Given the description of an element on the screen output the (x, y) to click on. 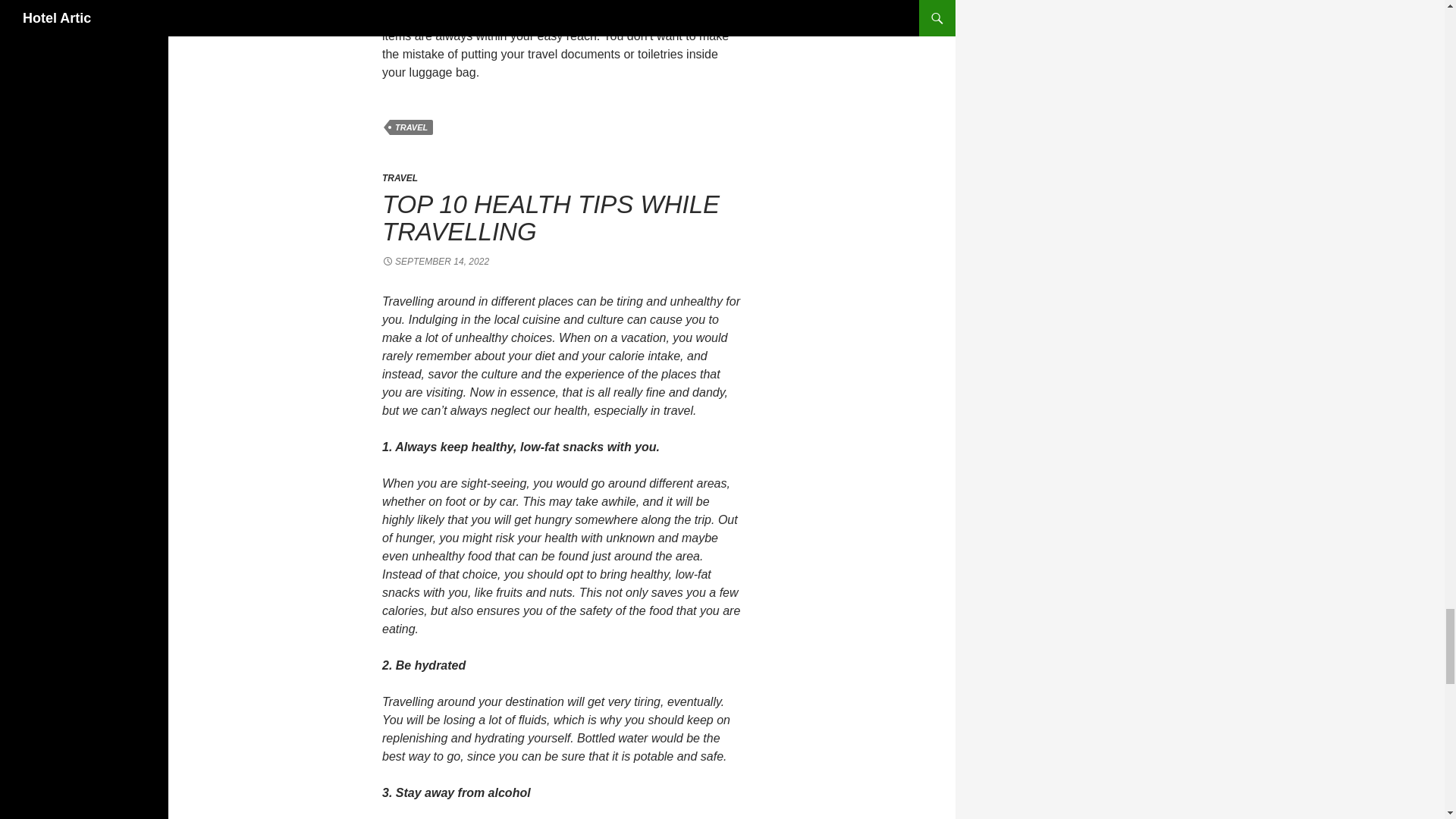
SEPTEMBER 14, 2022 (435, 261)
TRAVEL (411, 127)
TOP 10 HEALTH TIPS WHILE TRAVELLING (550, 217)
TRAVEL (399, 177)
